Given the description of an element on the screen output the (x, y) to click on. 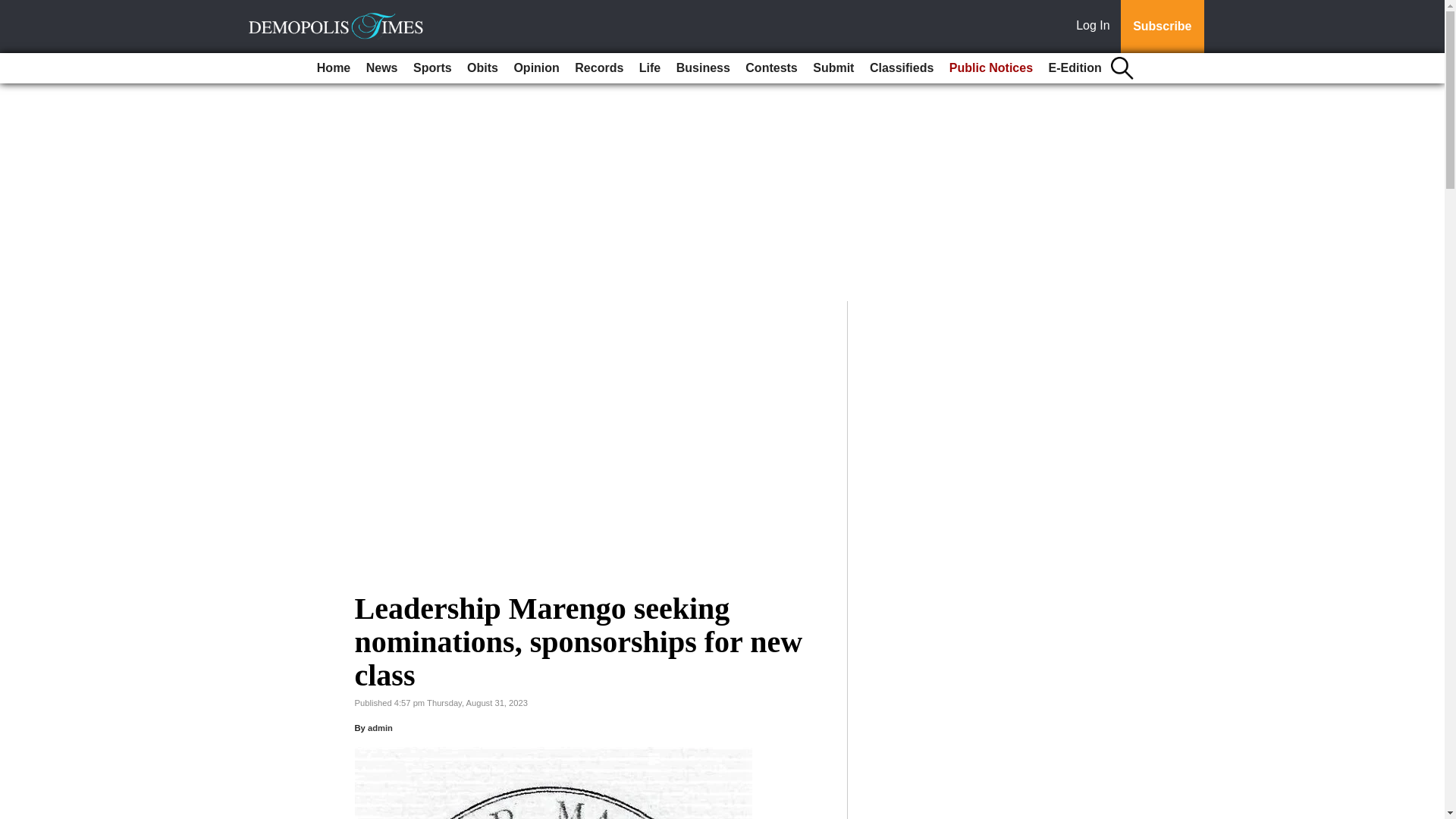
Contests (771, 68)
Records (598, 68)
admin (380, 727)
Sports (432, 68)
News (381, 68)
Obits (482, 68)
Business (702, 68)
Home (333, 68)
Subscribe (1162, 26)
Submit (833, 68)
Opinion (535, 68)
Life (649, 68)
Public Notices (991, 68)
Log In (1095, 26)
Classifieds (901, 68)
